Given the description of an element on the screen output the (x, y) to click on. 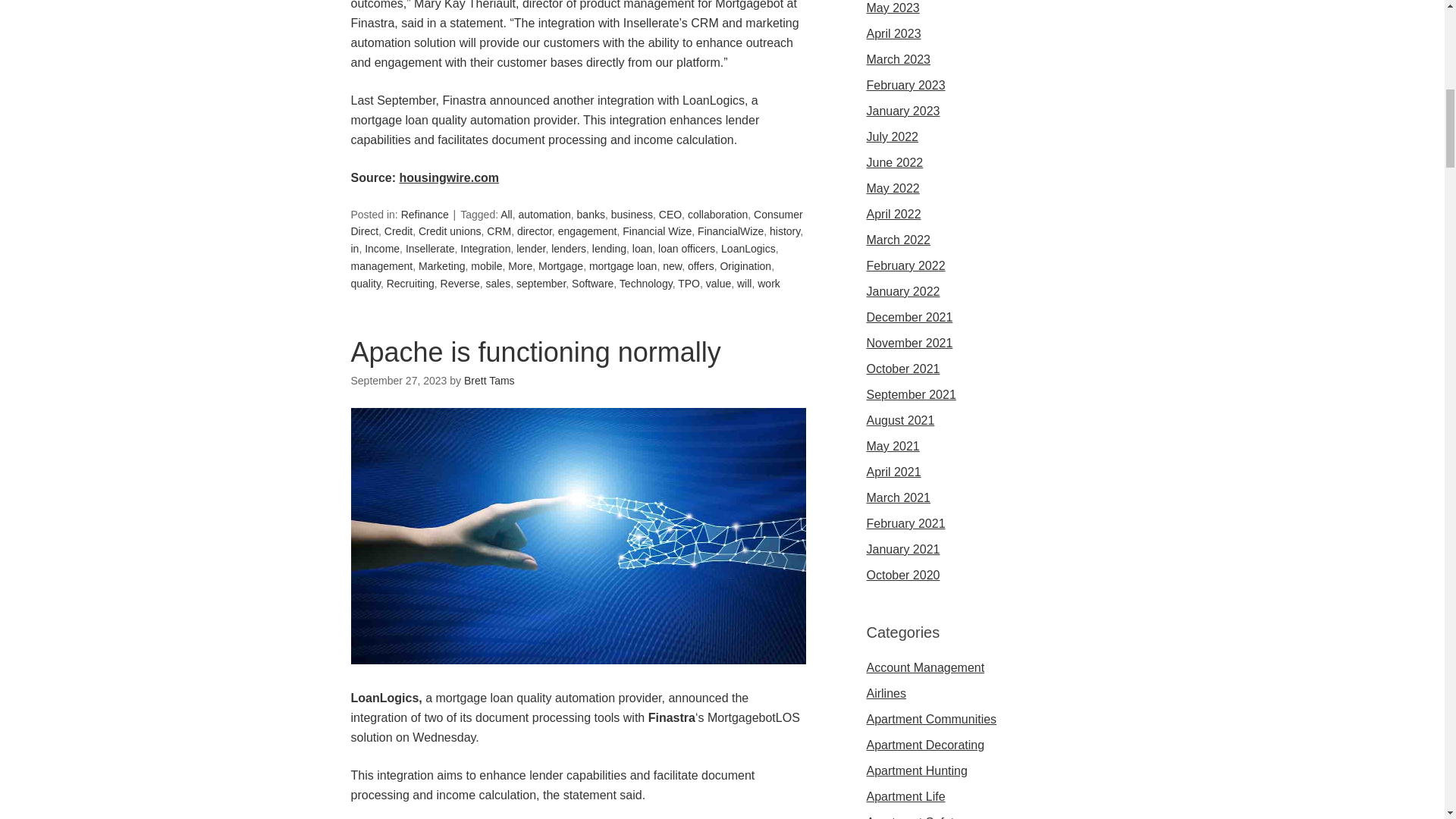
FinancialWize (729, 231)
lending (609, 248)
business (631, 214)
All (506, 214)
management (381, 265)
housingwire.com (448, 177)
Marketing (441, 265)
lender (530, 248)
Refinance (424, 214)
banks (590, 214)
